Given the description of an element on the screen output the (x, y) to click on. 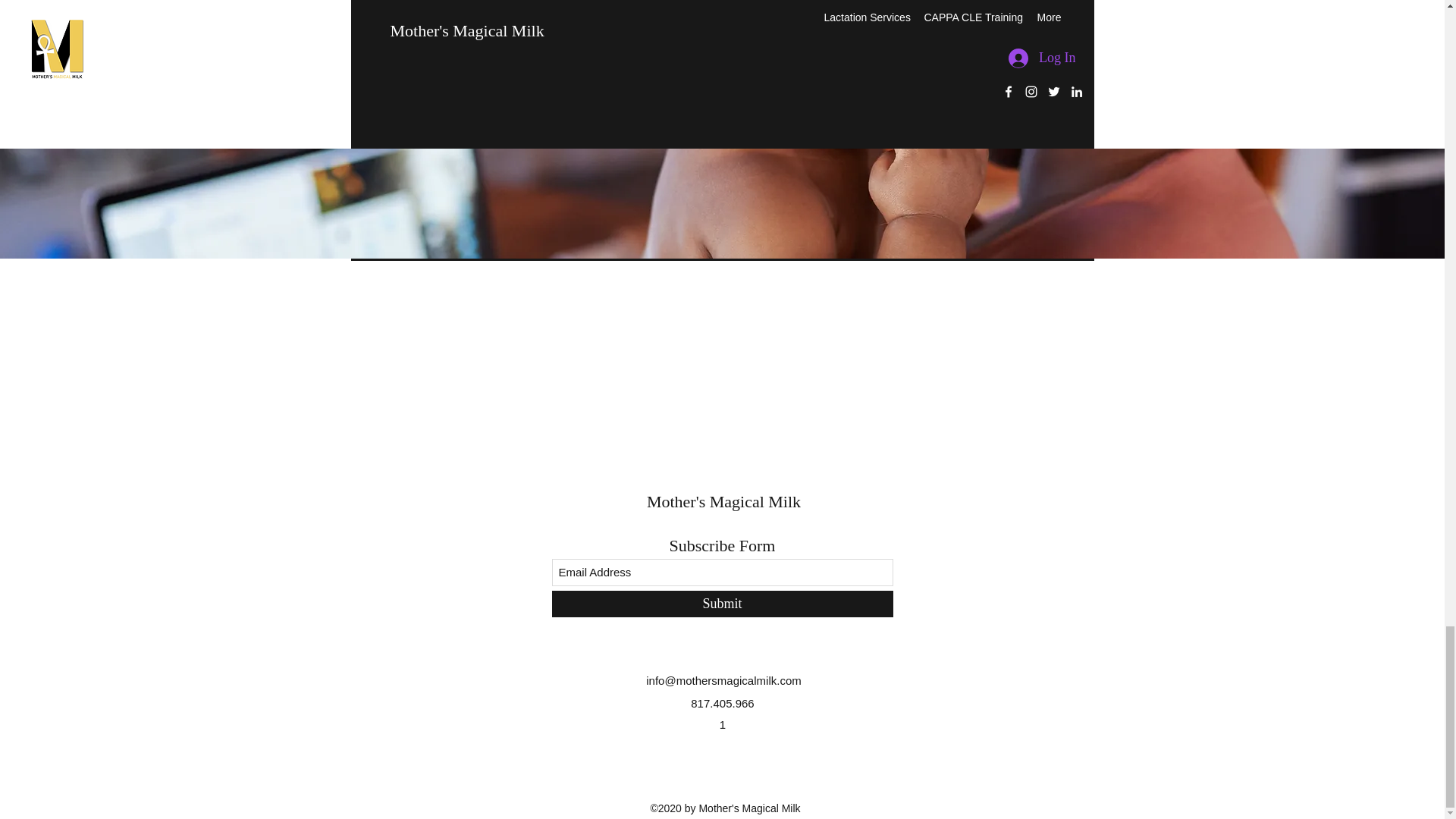
Mother's Magical Milk (723, 501)
Submit (722, 603)
